Given the description of an element on the screen output the (x, y) to click on. 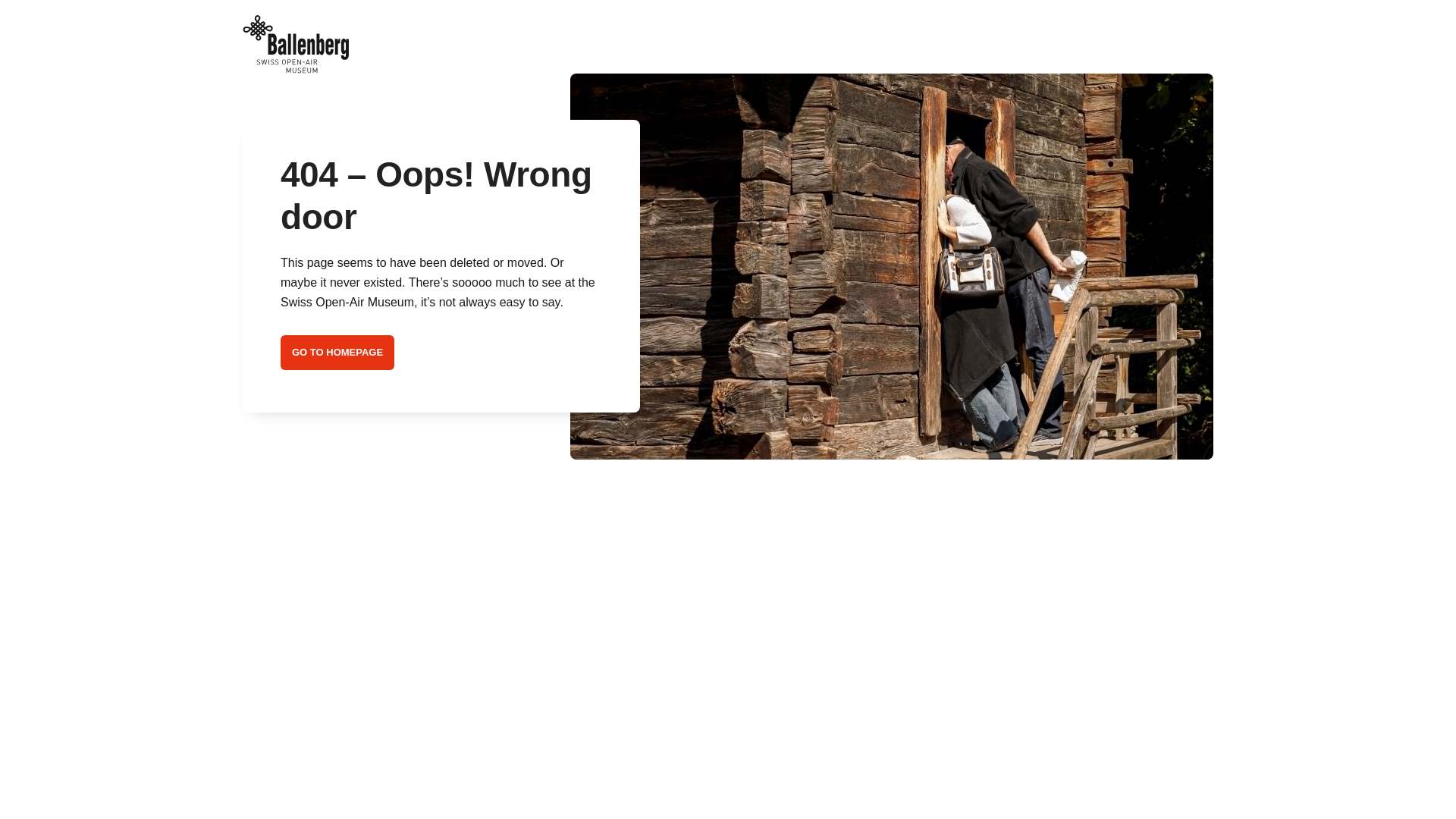
GO TO HOMEPAGE Element type: text (337, 352)
